Given the description of an element on the screen output the (x, y) to click on. 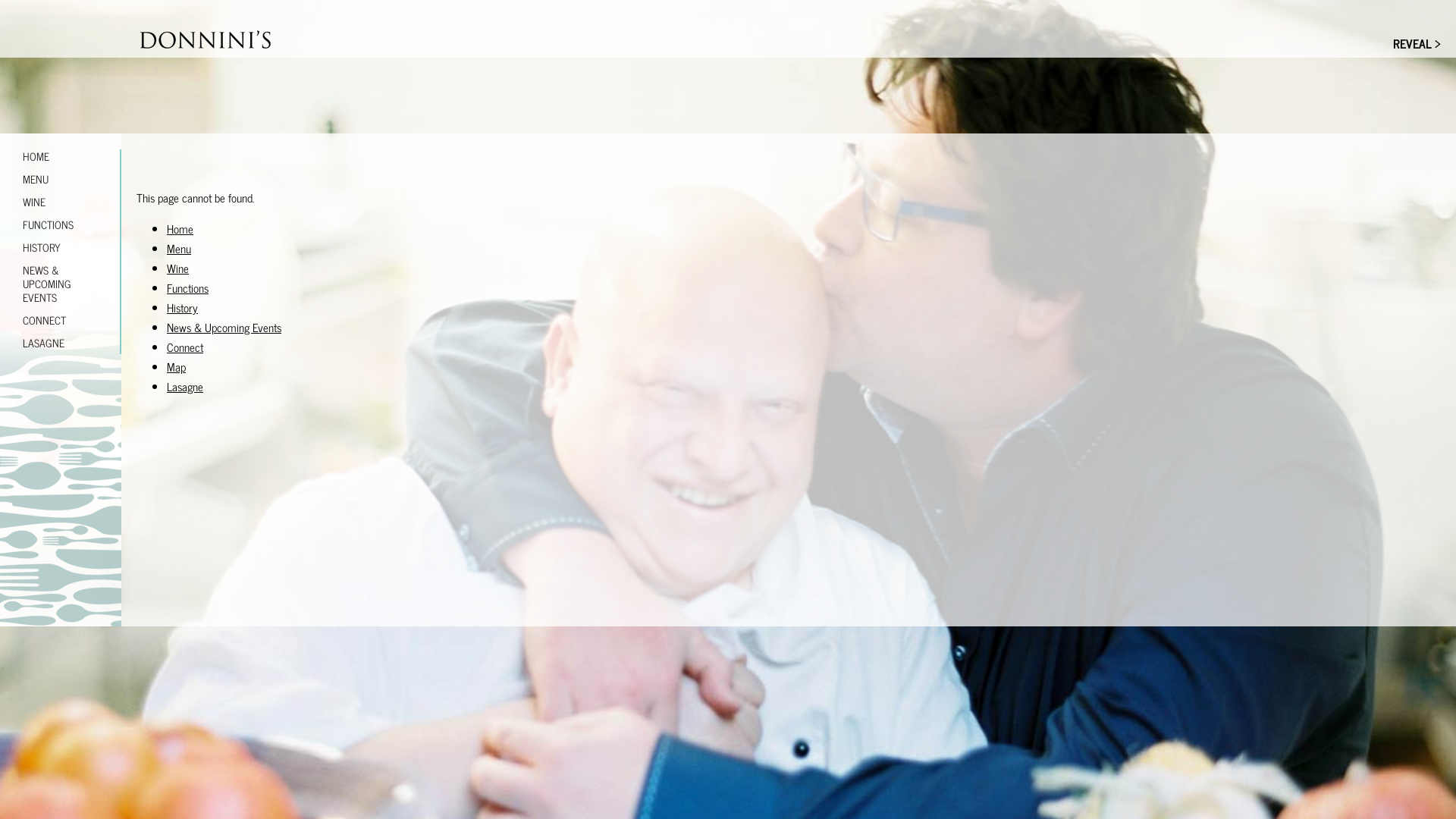
History Element type: text (181, 307)
HISTORY Element type: text (60, 246)
HOME Element type: text (60, 155)
Connect Element type: text (184, 346)
Menu Element type: text (178, 247)
Wine Element type: text (177, 267)
LASAGNE Element type: text (60, 342)
NEWS & UPCOMING EVENTS Element type: text (60, 283)
FUNCTIONS Element type: text (60, 224)
Home Element type: text (179, 228)
Lasagne Element type: text (184, 385)
MENU Element type: text (60, 178)
Map Element type: text (175, 366)
CONNECT Element type: text (60, 319)
News & Upcoming Events Element type: text (223, 326)
WINE Element type: text (60, 201)
Functions Element type: text (187, 287)
